Given the description of an element on the screen output the (x, y) to click on. 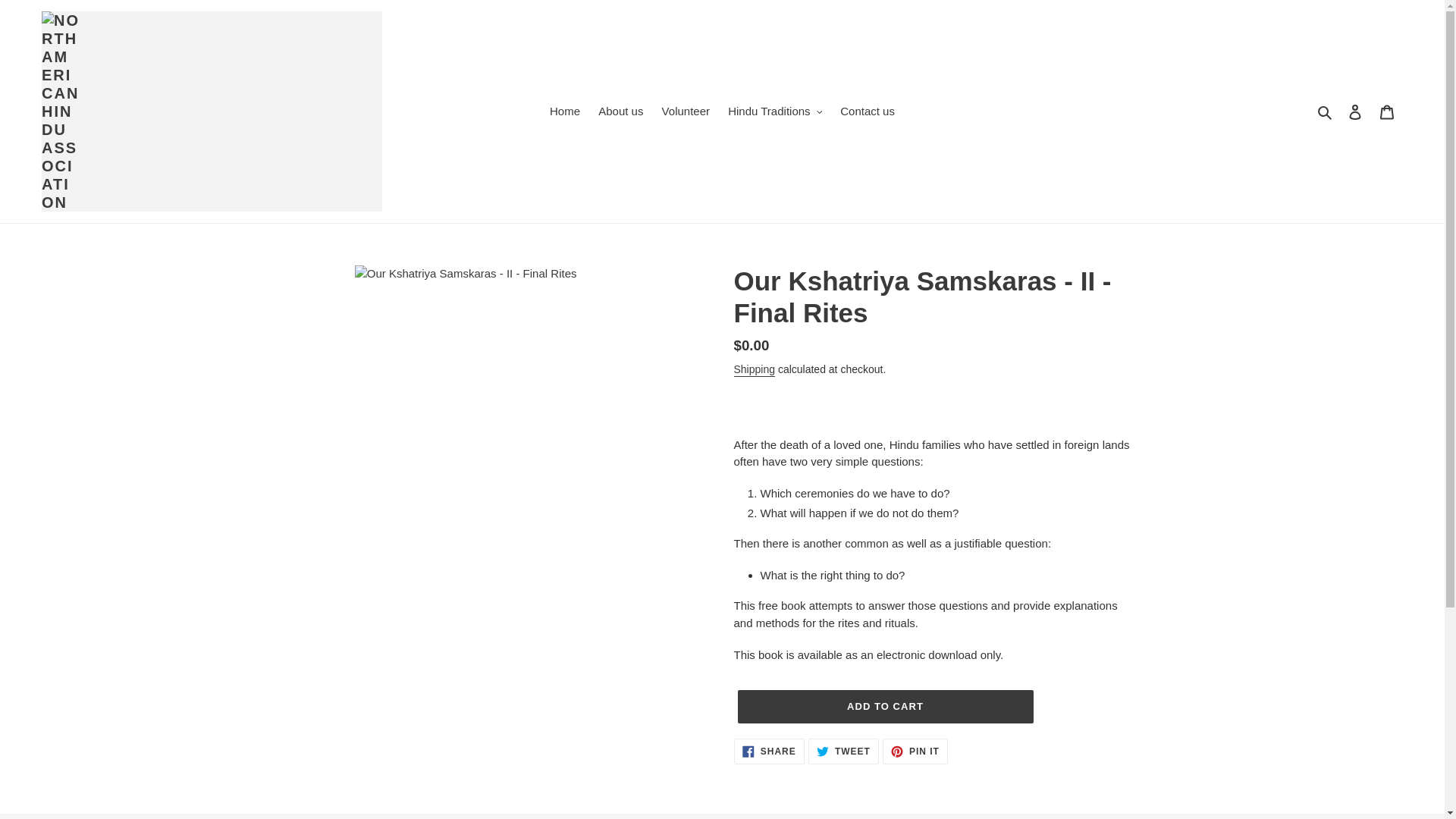
Contact us (867, 111)
Home (564, 111)
Cart (769, 751)
Volunteer (1387, 111)
Shipping (685, 111)
About us (754, 369)
Log in (914, 751)
Search (620, 111)
Hindu Traditions (1355, 111)
ADD TO CART (1326, 111)
